Given the description of an element on the screen output the (x, y) to click on. 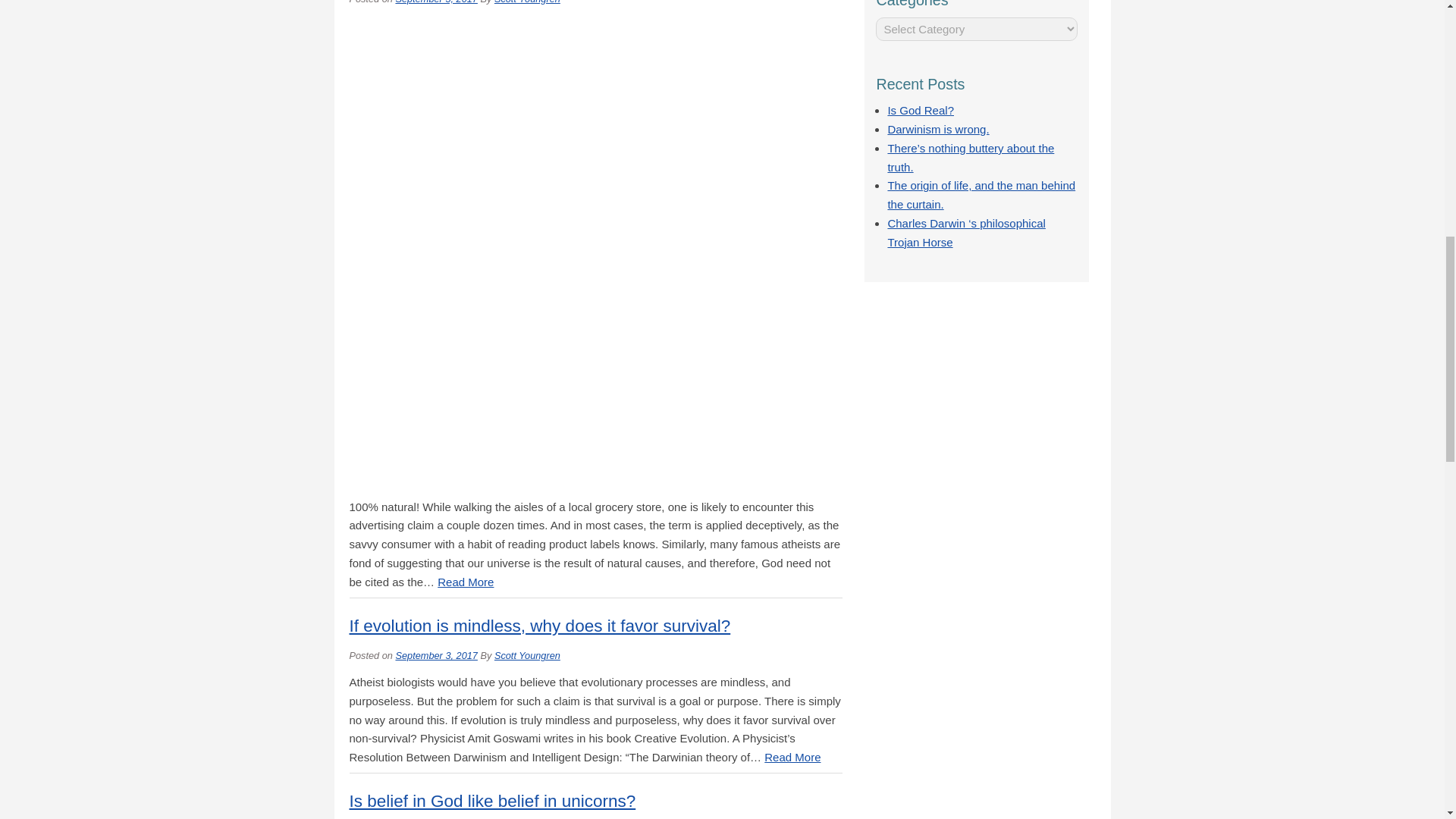
Scott Youngren (527, 655)
Is belief in God like belief in unicorns? (491, 800)
September 5, 2017 (435, 2)
Read More (465, 581)
September 3, 2017 (435, 655)
Posts by Scott Youngren (527, 2)
If evolution is mindless, why does it favor survival? (539, 625)
Read More (792, 757)
Posts by Scott Youngren (527, 655)
Scott Youngren (527, 2)
